Given the description of an element on the screen output the (x, y) to click on. 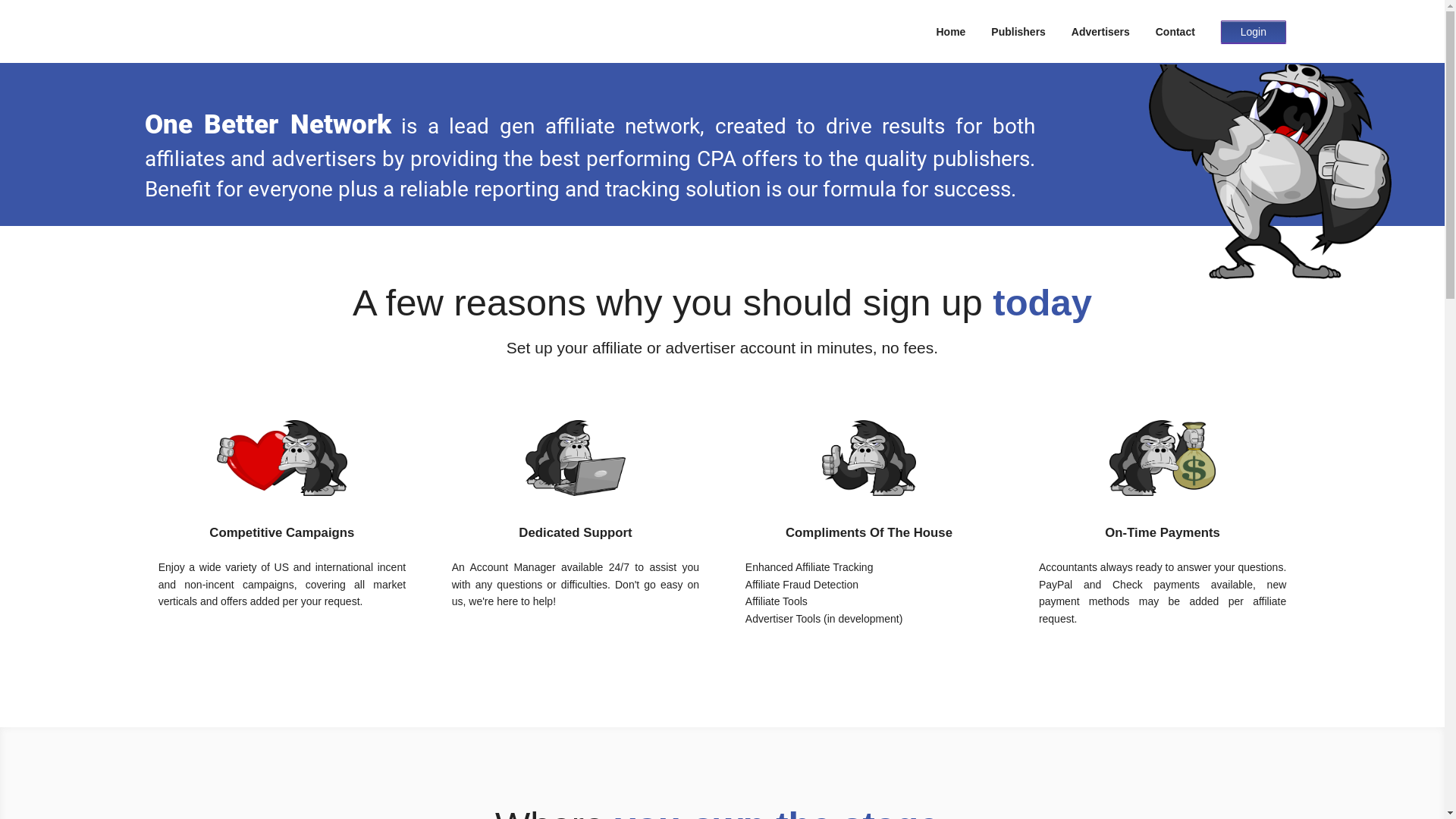
Contact Element type: text (1175, 31)
Publishers Element type: text (1018, 31)
Login Element type: text (1253, 30)
Advertisers Element type: text (1100, 31)
Home Element type: text (950, 31)
